Given the description of an element on the screen output the (x, y) to click on. 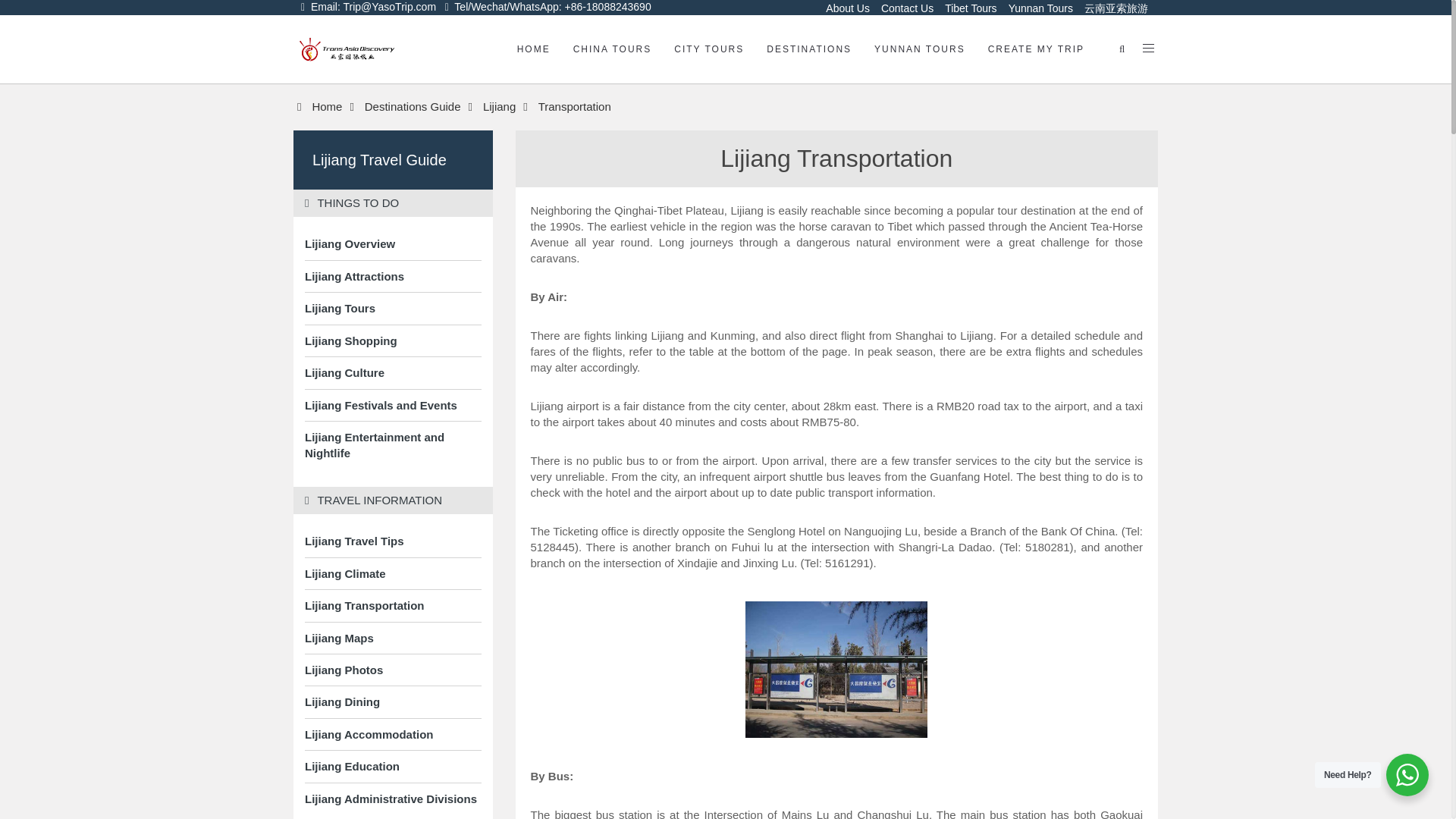
Yunnan Tours (1038, 8)
Contact Us (905, 8)
CHINA TOURS (612, 49)
About Us (845, 8)
Tibet Tours (967, 8)
HOME (533, 49)
